Given the description of an element on the screen output the (x, y) to click on. 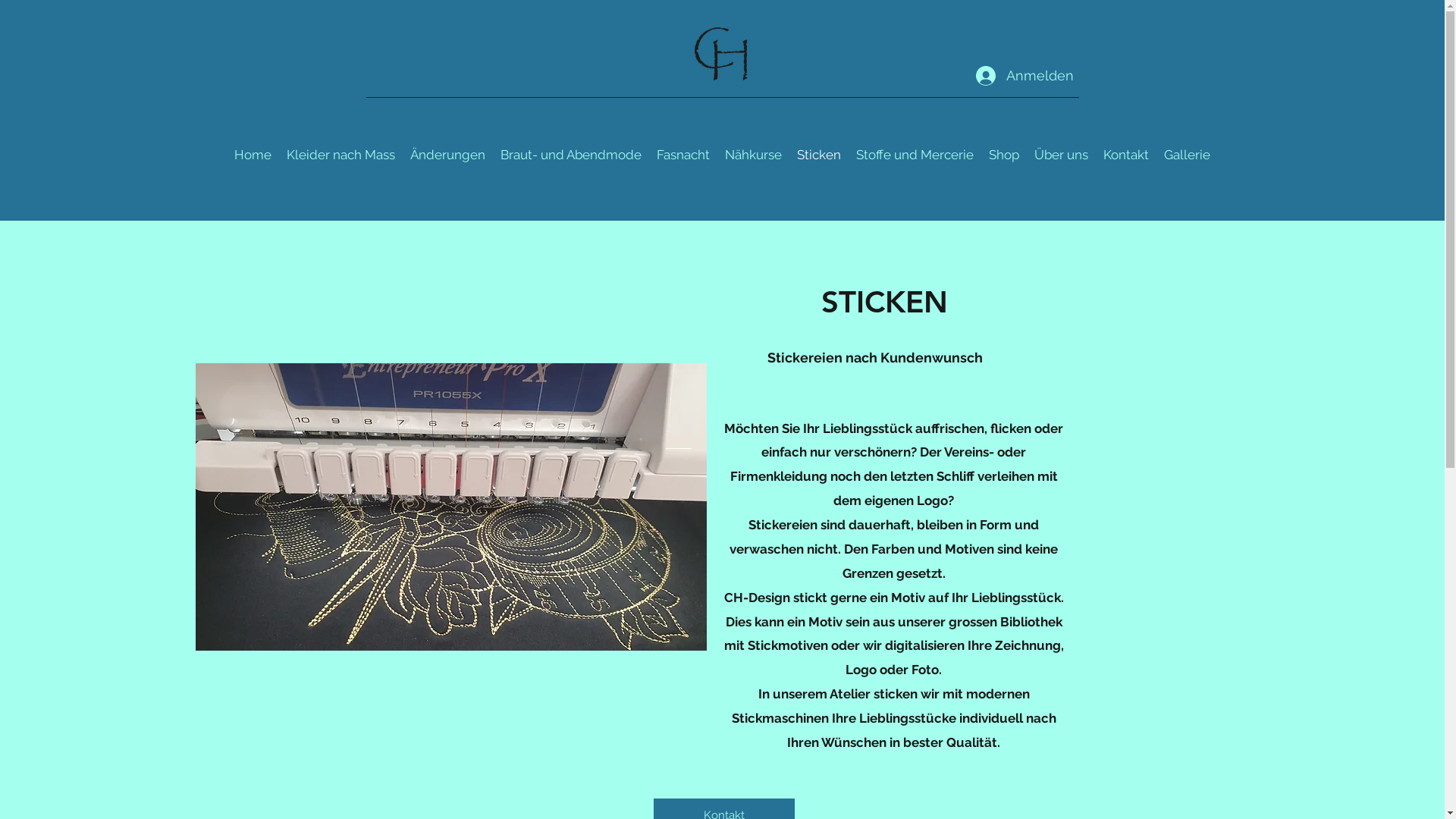
Gallerie Element type: text (1186, 154)
Stoffe und Mercerie Element type: text (914, 154)
Fasnacht Element type: text (683, 154)
Shop Element type: text (1003, 154)
Kleider nach Mass Element type: text (340, 154)
Home Element type: text (252, 154)
Braut- und Abendmode Element type: text (570, 154)
Kontakt Element type: text (1125, 154)
Sticken Element type: text (818, 154)
Anmelden Element type: text (1009, 75)
